Given the description of an element on the screen output the (x, y) to click on. 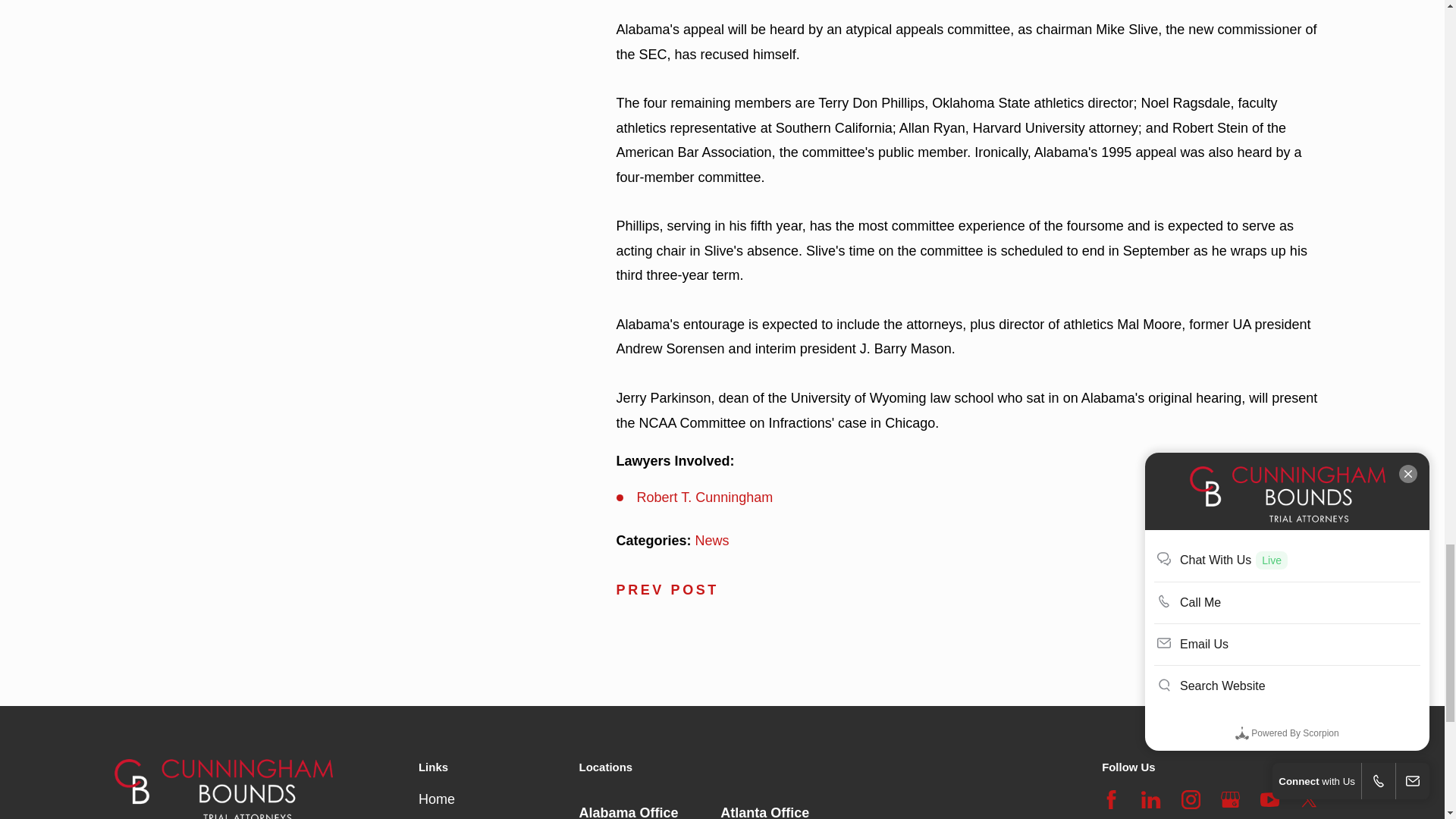
Home (267, 789)
Facebook (1111, 799)
Cunningham Bounds (224, 789)
LinkedIn (1150, 799)
